Given the description of an element on the screen output the (x, y) to click on. 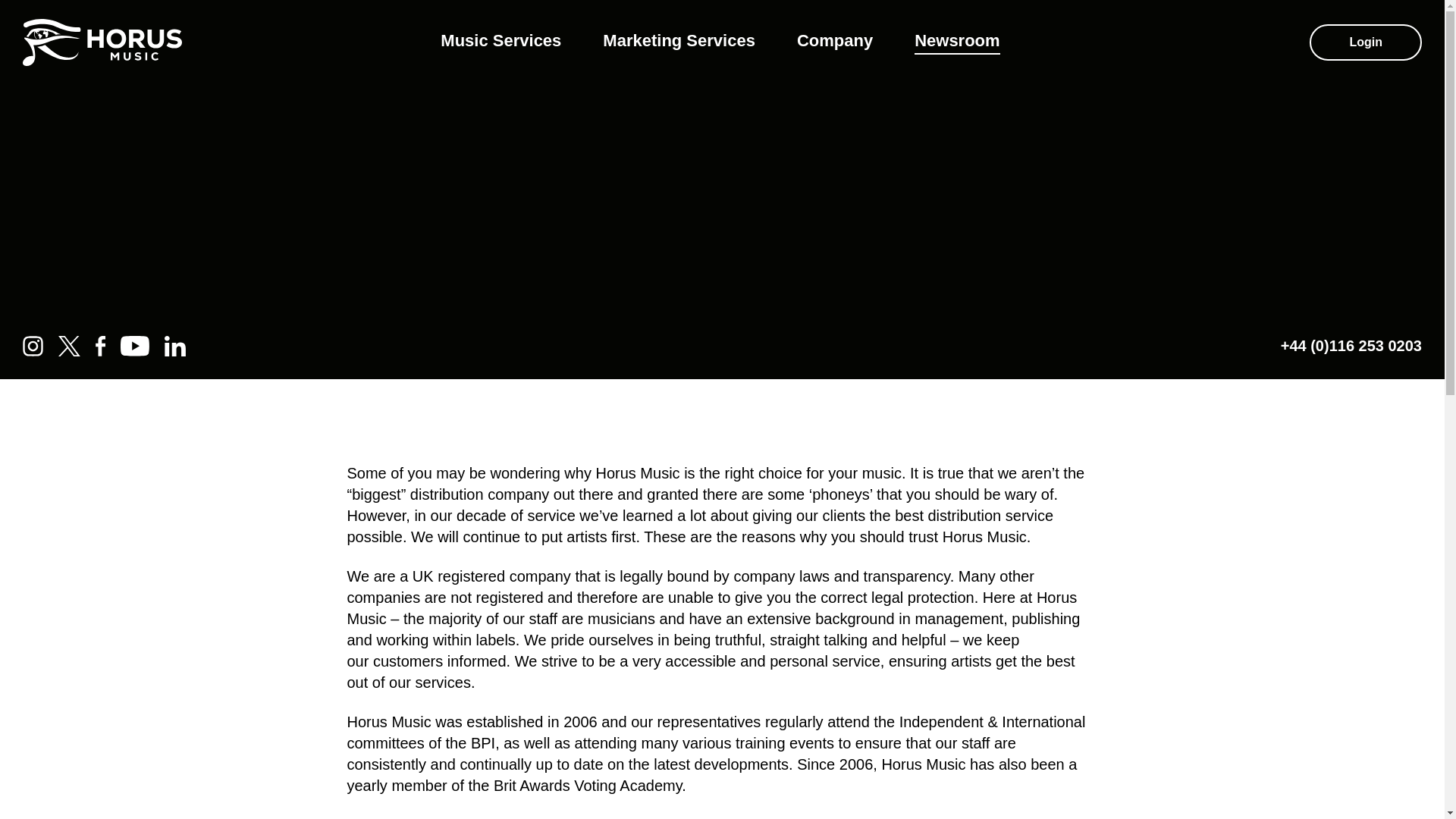
Marketing Services (678, 42)
Newsroom (956, 42)
Music Services (500, 42)
Company (834, 42)
Login (1365, 42)
